Given the description of an element on the screen output the (x, y) to click on. 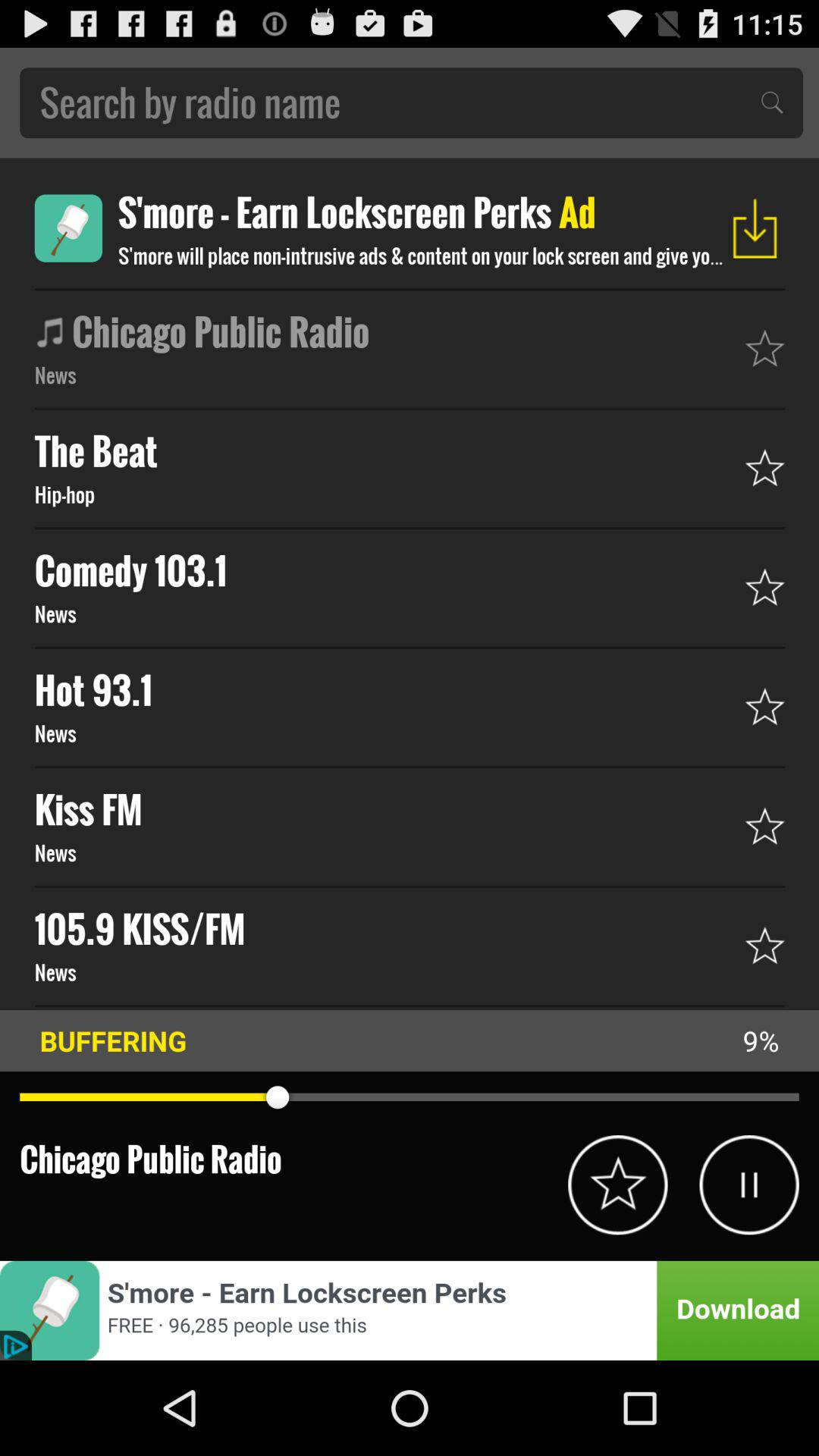
pause music button (749, 1184)
